Given the description of an element on the screen output the (x, y) to click on. 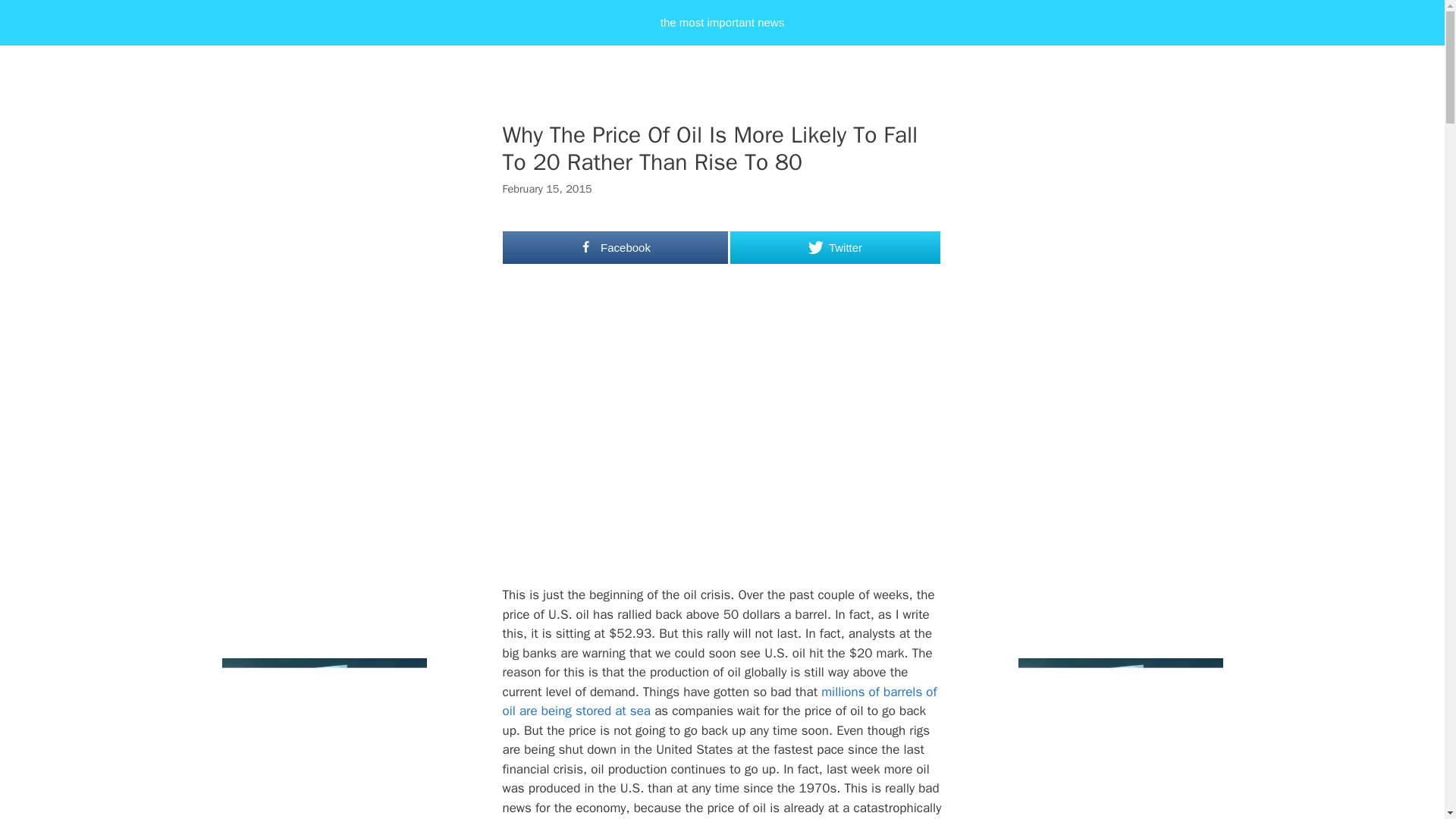
Facebook (615, 246)
Facebook (615, 246)
the most important news (722, 22)
the most important news (722, 22)
millions of barrels of oil are being stored at sea (719, 701)
Twitter (834, 246)
millions of barrels of oil are being stored at sea (719, 701)
Twitter (834, 246)
